Given the description of an element on the screen output the (x, y) to click on. 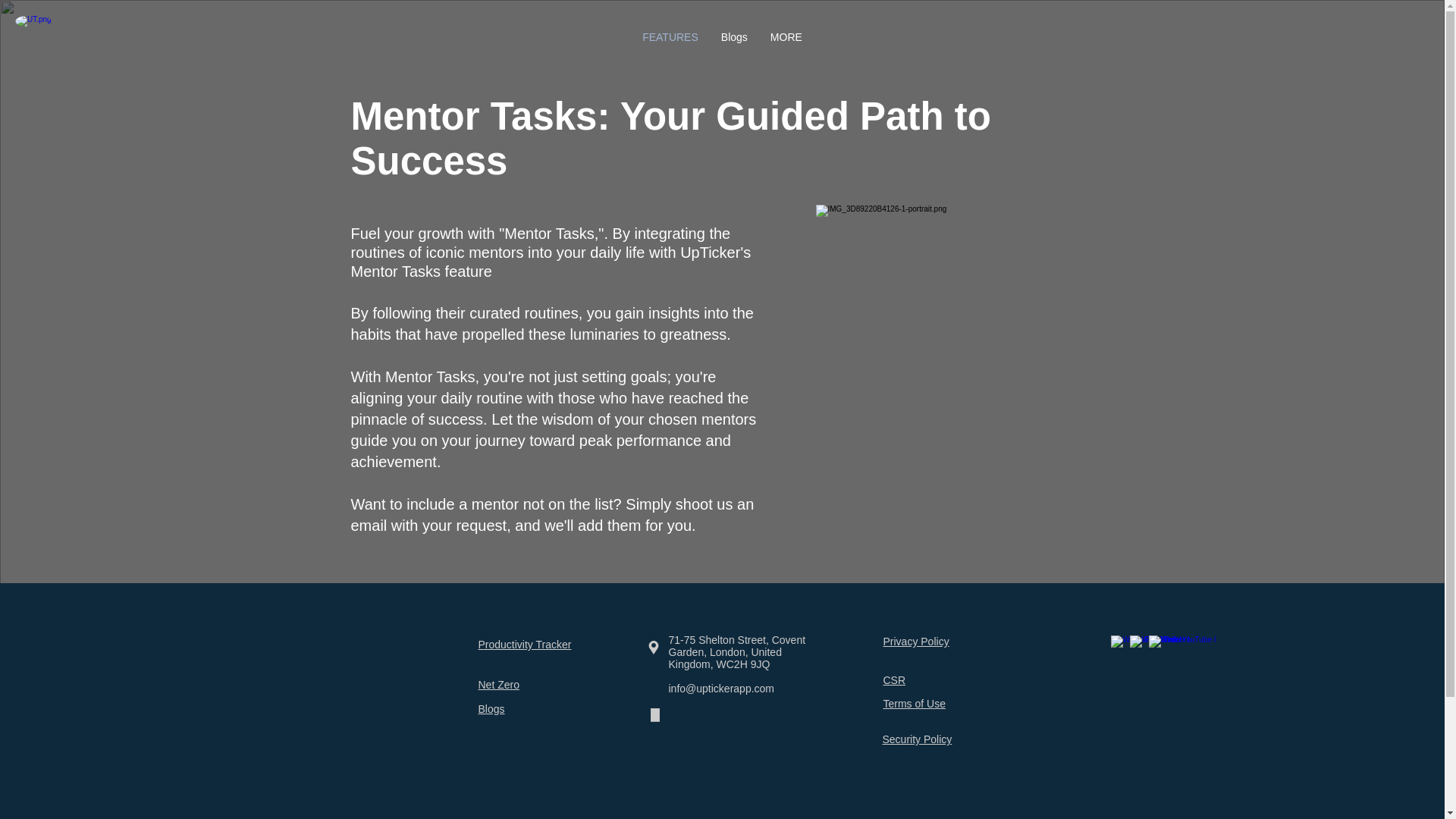
Security Policy (917, 739)
Privacy Policy (915, 640)
Blogs (734, 45)
FEATURES (670, 45)
Terms of Use (913, 703)
Productivity Tracker (523, 644)
Blogs (490, 708)
Net Zero (497, 684)
CSR (893, 679)
